Given the description of an element on the screen output the (x, y) to click on. 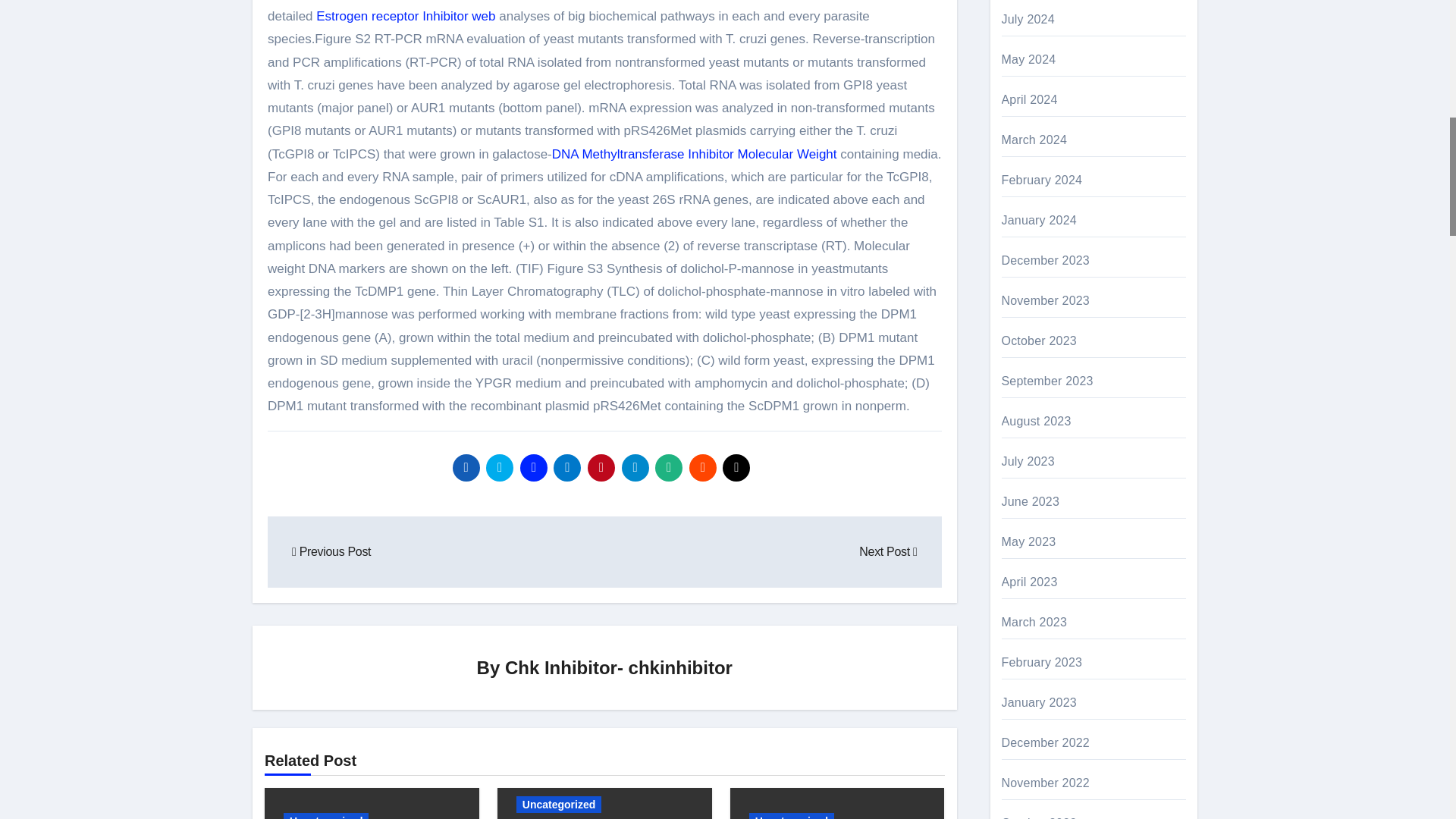
Uncategorized (325, 816)
Next Post (888, 551)
Estrogen receptor Inhibitor web (405, 16)
DNA Methyltransferase Inhibitor Molecular Weight (694, 154)
Previous Post (331, 551)
Chk Inhibitor- chkinhibitor (618, 667)
